Given the description of an element on the screen output the (x, y) to click on. 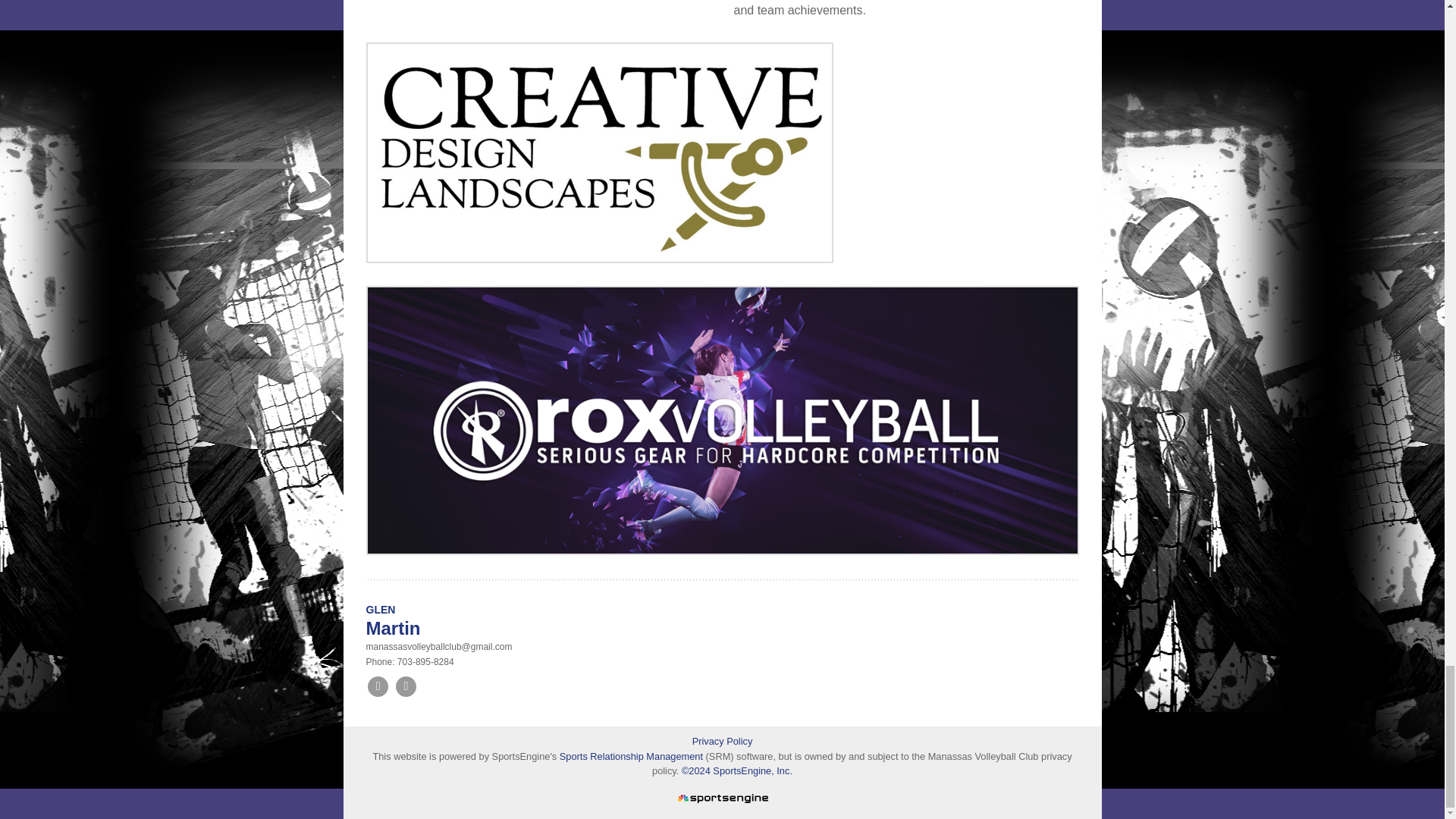
Sports Relationship Management (632, 756)
Privacy Policy (722, 740)
